Given the description of an element on the screen output the (x, y) to click on. 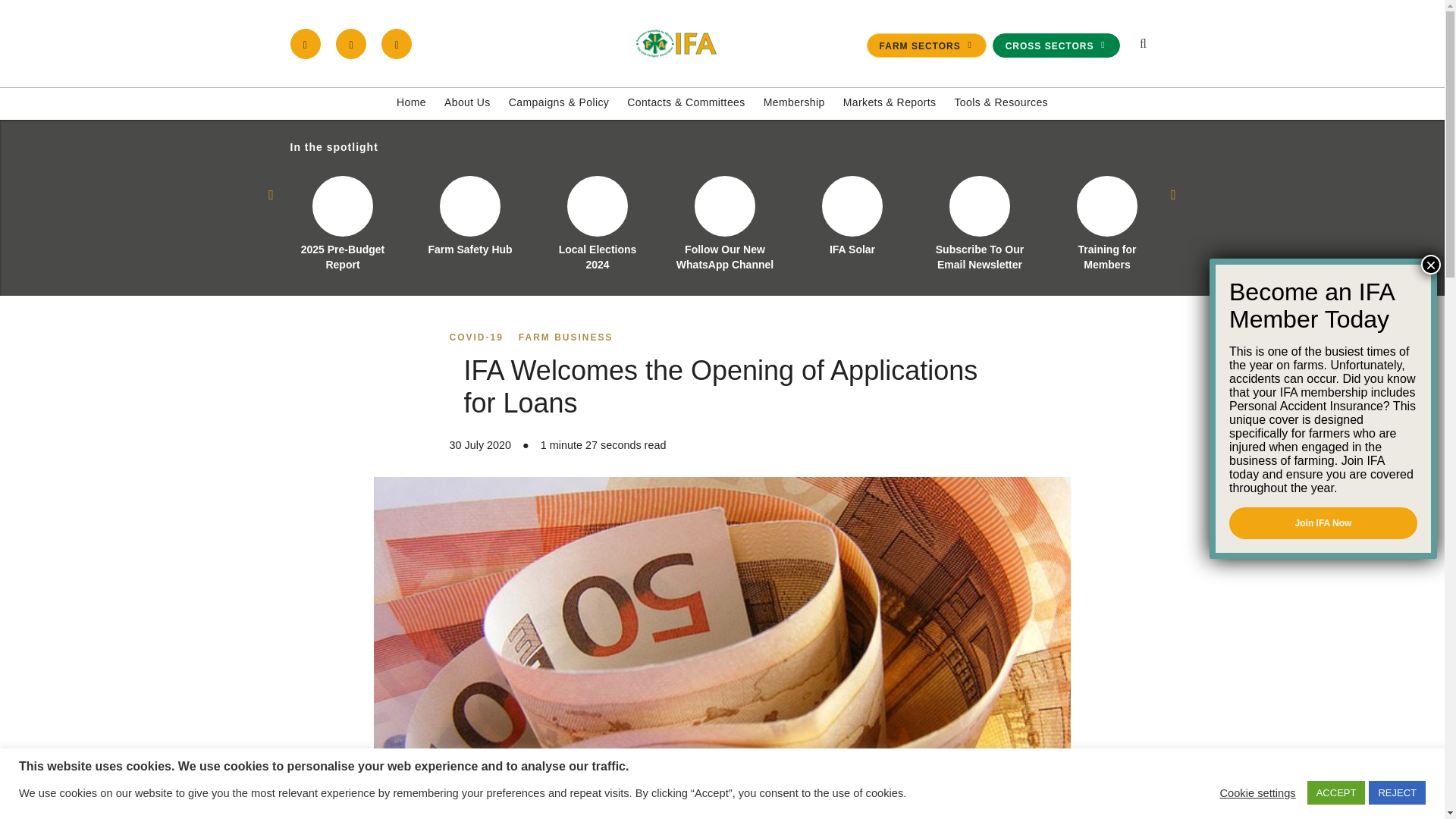
Home (411, 103)
FARM SECTORS (926, 45)
Get the official IFA App (396, 43)
Search (1070, 210)
About Us (467, 103)
Follow IFA on Twitter (351, 43)
Follow IFA on Facebook (304, 43)
CROSS SECTORS (1055, 45)
